Given the description of an element on the screen output the (x, y) to click on. 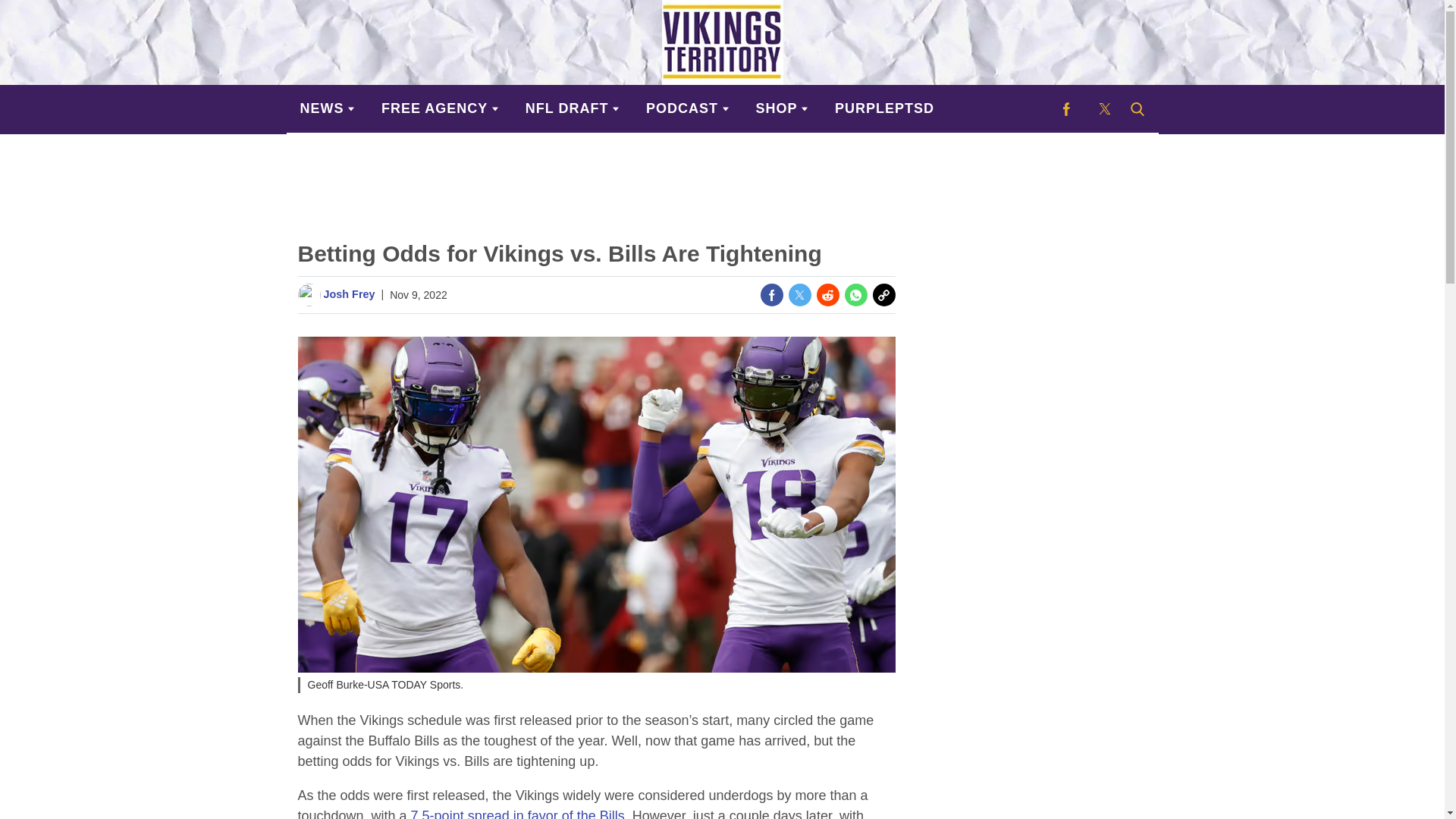
Share on Facebook (771, 294)
Share on Twitter (799, 294)
Share on Reddit (826, 294)
SHOP (782, 108)
Josh Frey (348, 294)
NEWS (327, 108)
7.5-point spread in favor of the Bills (517, 813)
Posts by Josh Frey (348, 294)
NFL DRAFT (571, 108)
PODCAST (686, 108)
